Given the description of an element on the screen output the (x, y) to click on. 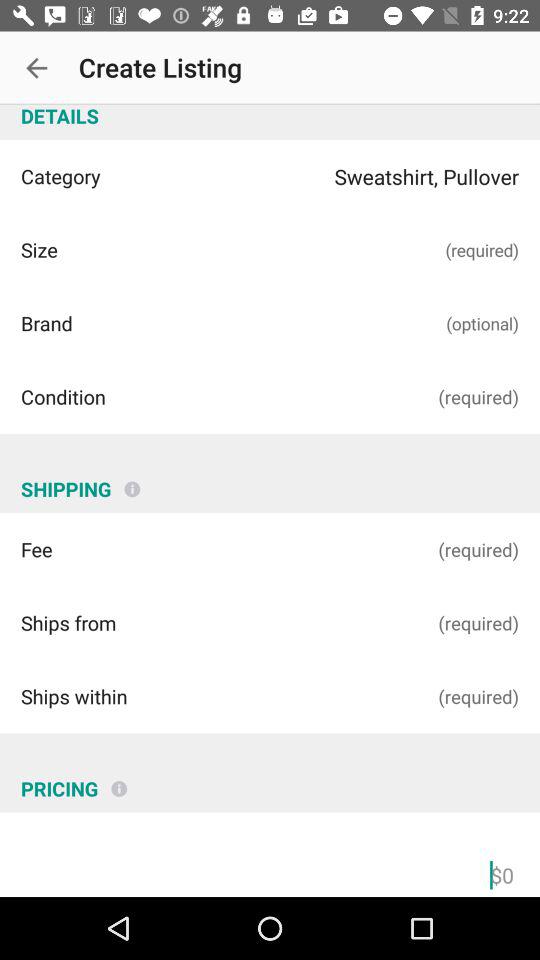
select the item to the left of the create listing app (36, 67)
